Given the description of an element on the screen output the (x, y) to click on. 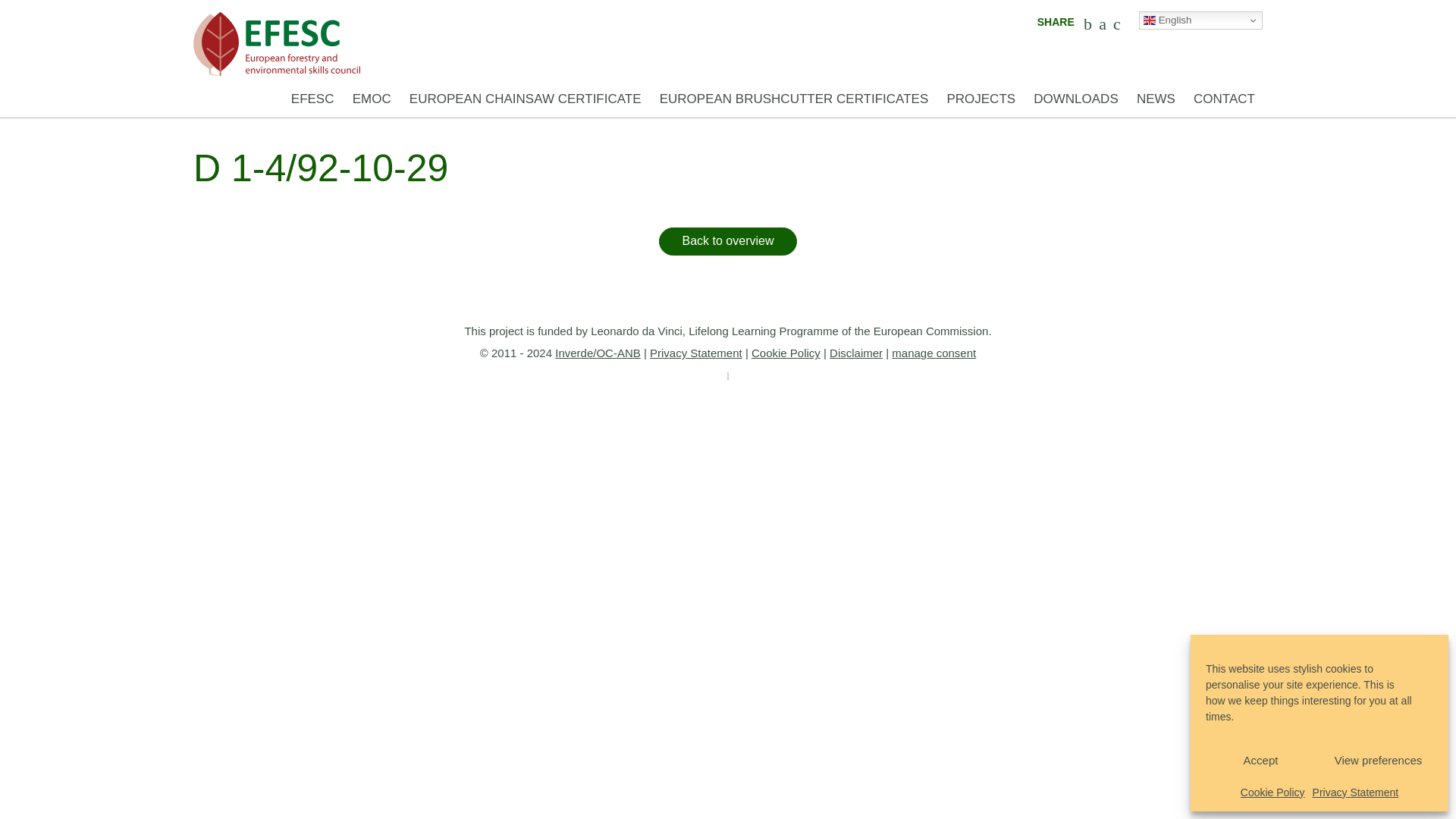
EFESC (312, 98)
DOWNLOADS (1075, 98)
EUROPEAN BRUSHCUTTER CERTIFICATES (794, 98)
EUROPEAN CHAINSAW CERTIFICATE (525, 98)
English (1200, 20)
EMOC (371, 98)
PROJECTS (981, 98)
